Given the description of an element on the screen output the (x, y) to click on. 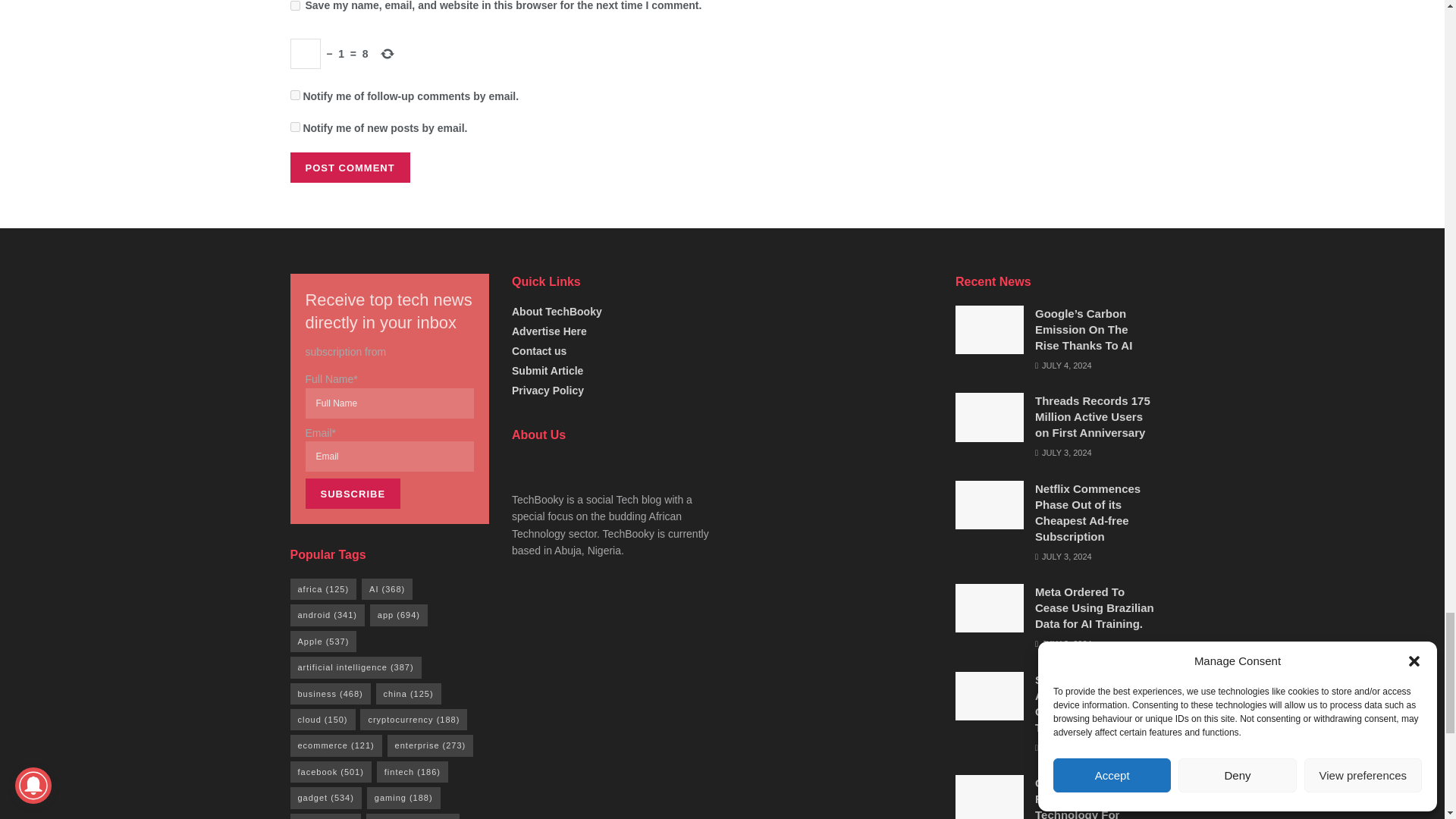
Post Comment (349, 167)
subscribe (294, 94)
subscribe (294, 126)
Subscribe (352, 493)
yes (294, 5)
